Given the description of an element on the screen output the (x, y) to click on. 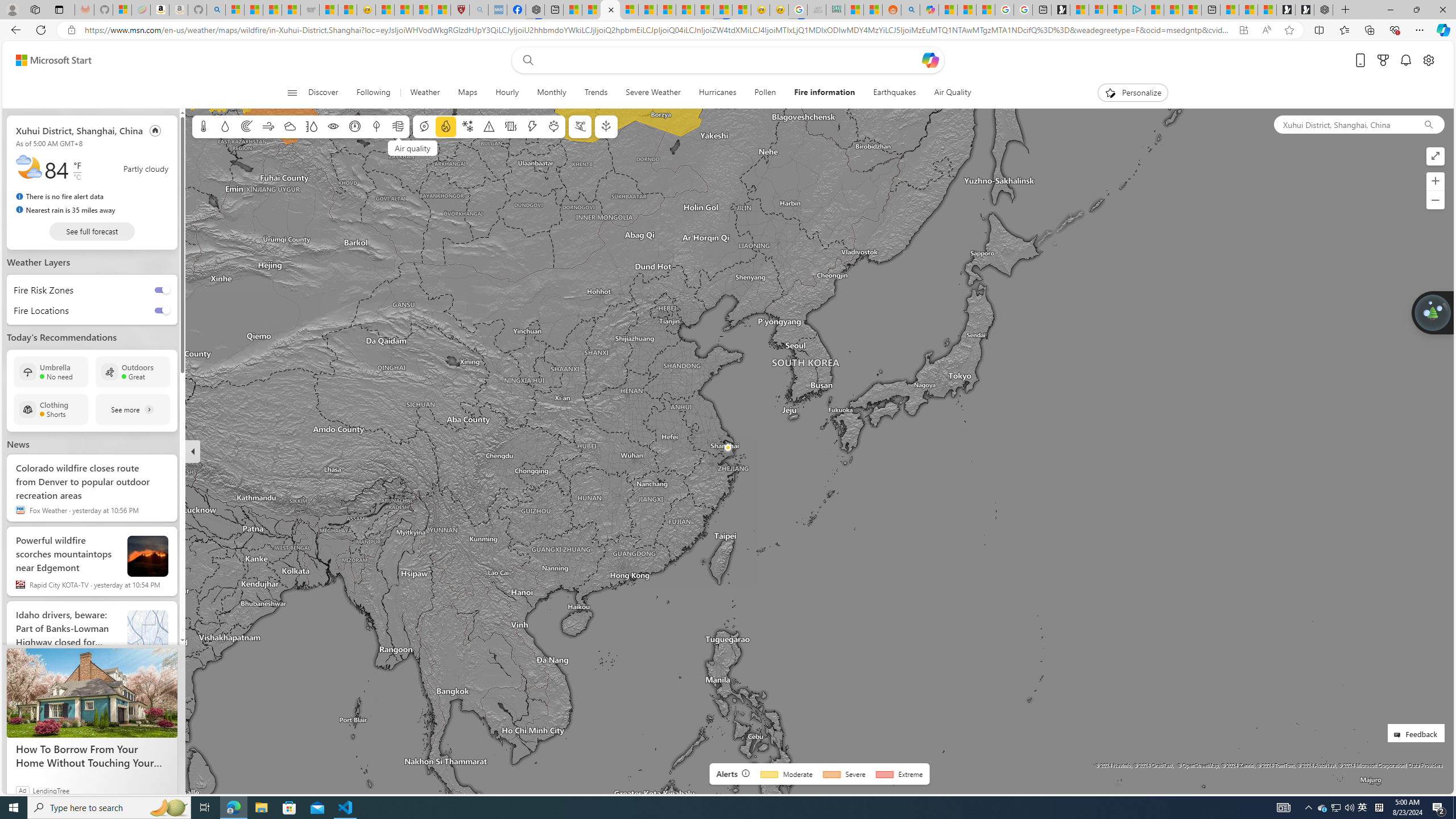
Pollen (553, 126)
Hurricanes (717, 92)
Hurricanes (716, 92)
Severe weather (489, 126)
